Given the description of an element on the screen output the (x, y) to click on. 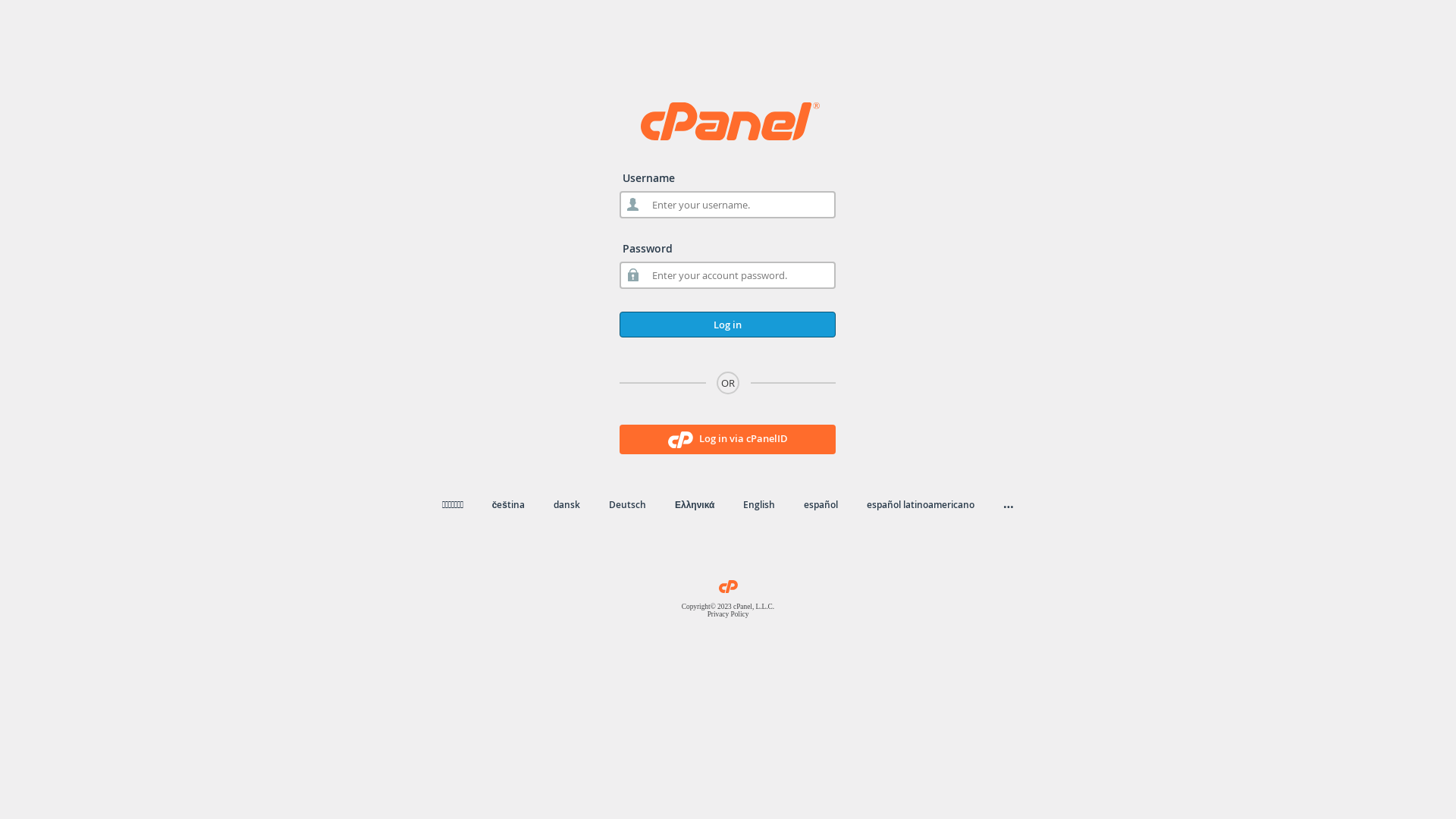
Log in Element type: text (727, 324)
Privacy Policy Element type: text (728, 614)
dansk Element type: text (566, 504)
English Element type: text (759, 504)
Deutsch Element type: text (627, 504)
Log in via cPanelID Element type: text (727, 439)
